Given the description of an element on the screen output the (x, y) to click on. 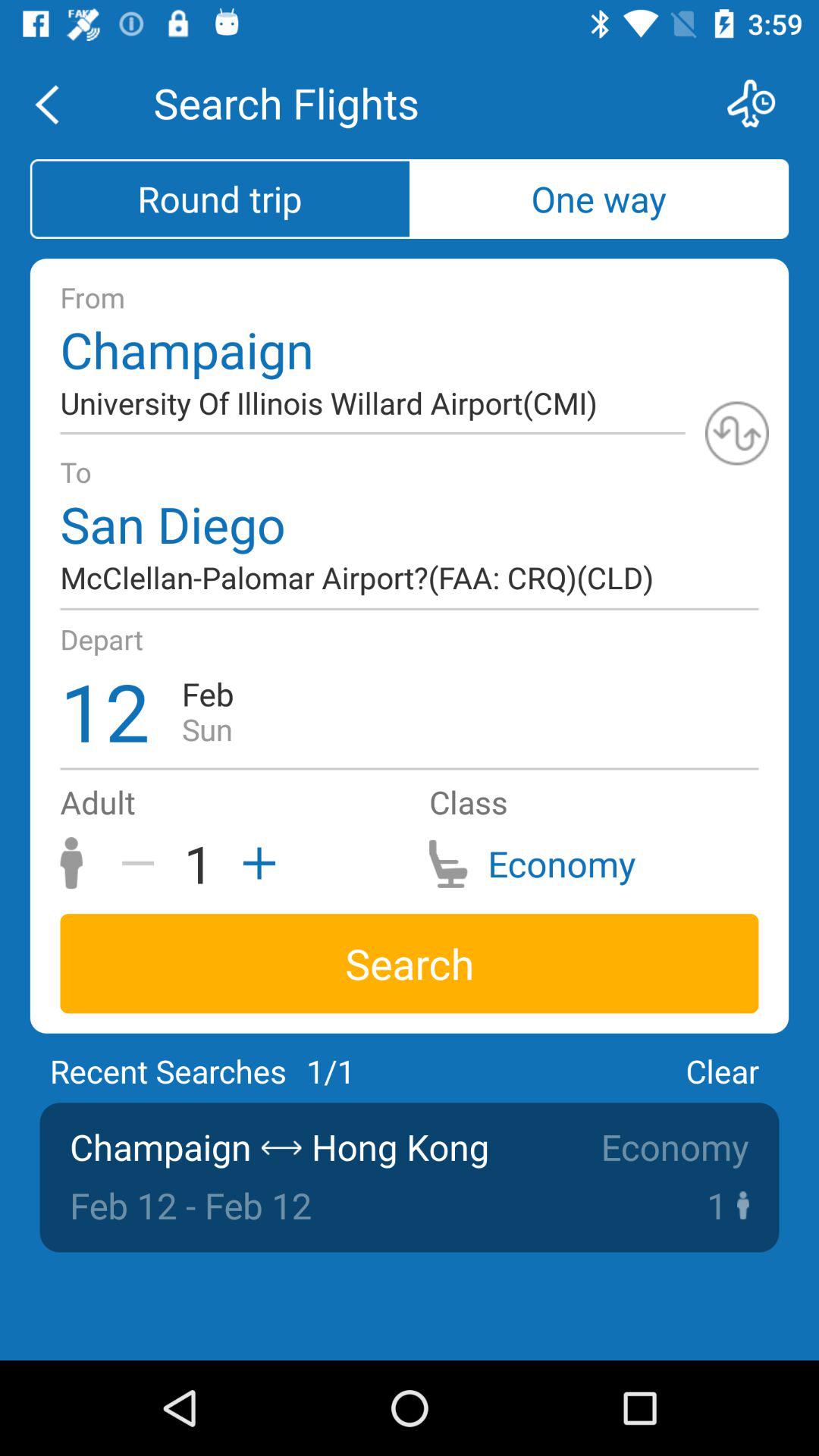
swap from and to (736, 433)
